Given the description of an element on the screen output the (x, y) to click on. 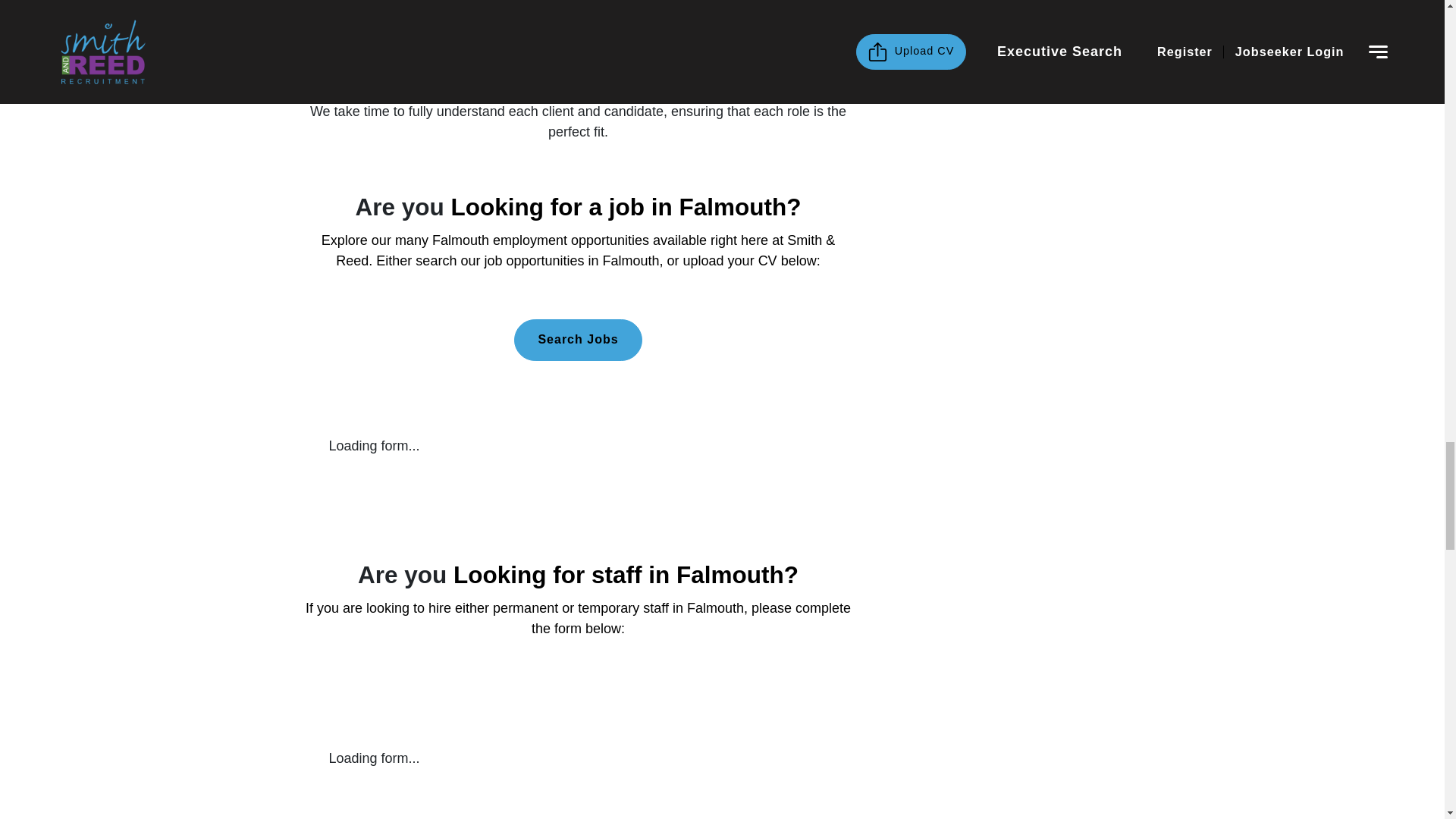
Search Jobs (577, 339)
